Given the description of an element on the screen output the (x, y) to click on. 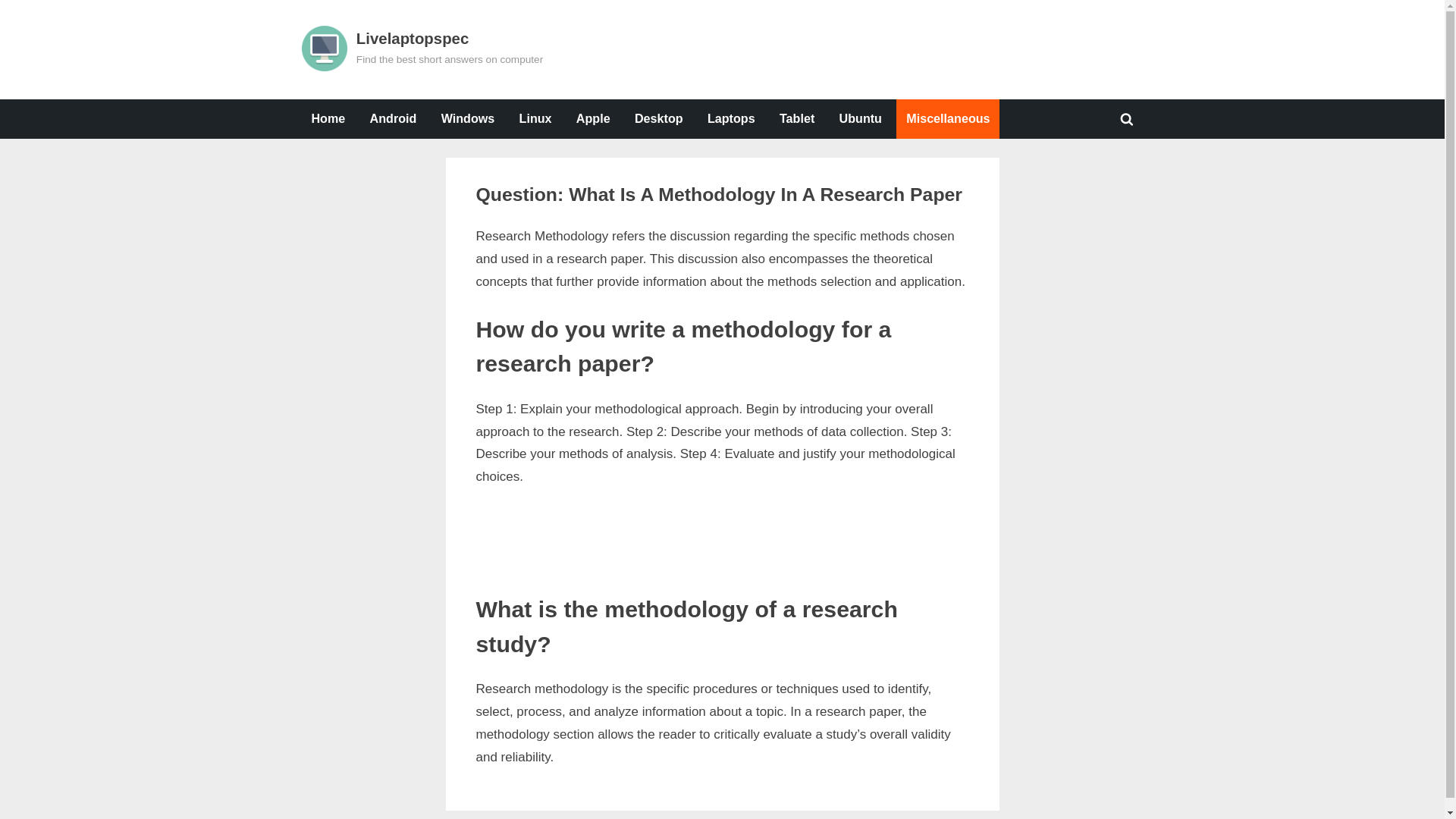
Livelaptopspec (412, 38)
Home (328, 118)
Linux (535, 118)
Tablet (797, 118)
Windows (467, 118)
Apple (593, 118)
Laptops (508, 226)
Ubuntu (537, 226)
Android (731, 118)
Toggle search form (860, 118)
Desktop (392, 118)
Miscellaneous (1126, 118)
